Given the description of an element on the screen output the (x, y) to click on. 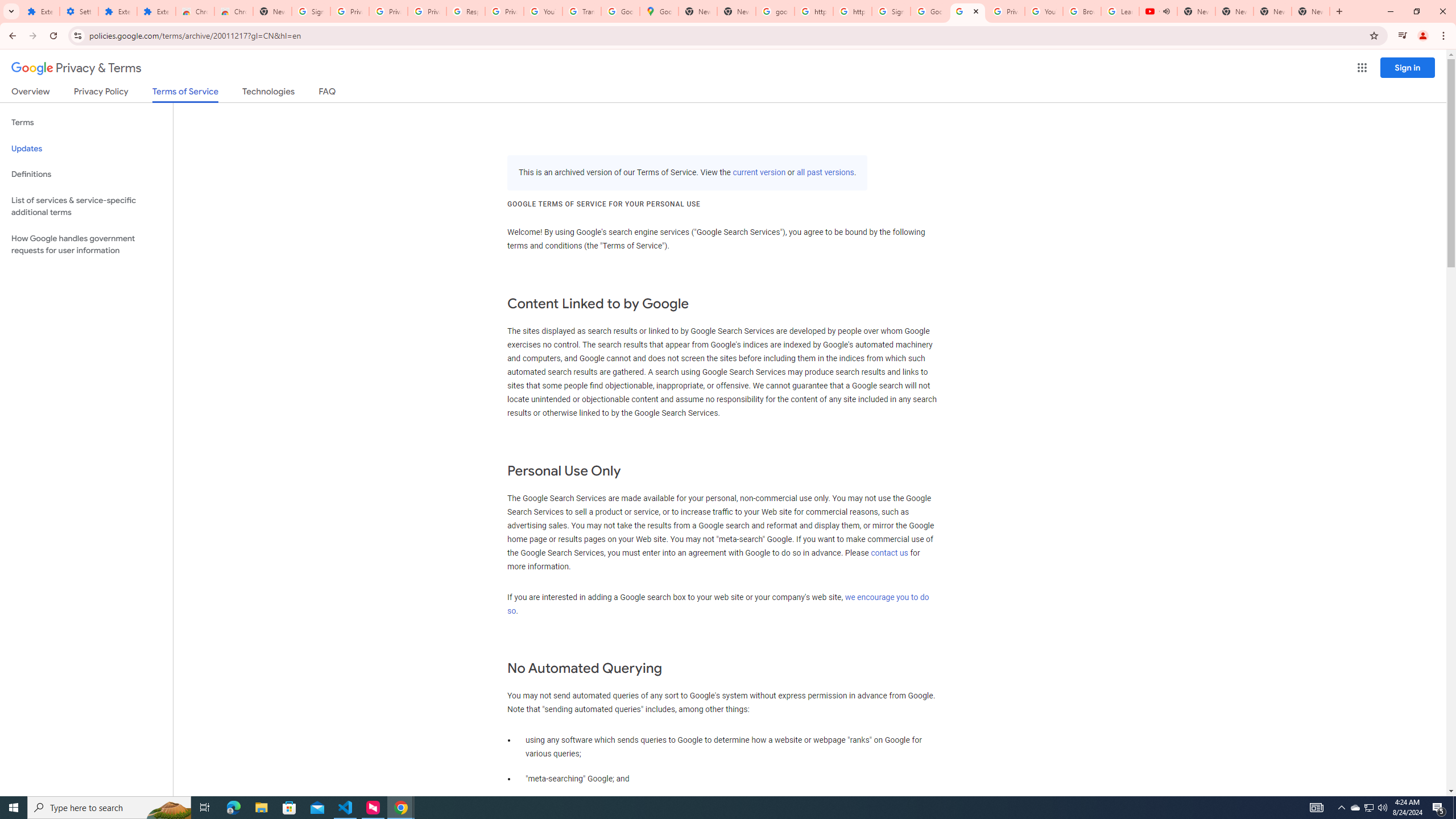
current version (759, 172)
Settings (79, 11)
Sign in (1407, 67)
Google Maps (659, 11)
Updates (86, 148)
Terms of Service (184, 94)
Control your music, videos, and more (1402, 35)
Privacy & Terms (76, 68)
Extensions (117, 11)
all past versions (825, 172)
Chrome Web Store (194, 11)
